Given the description of an element on the screen output the (x, y) to click on. 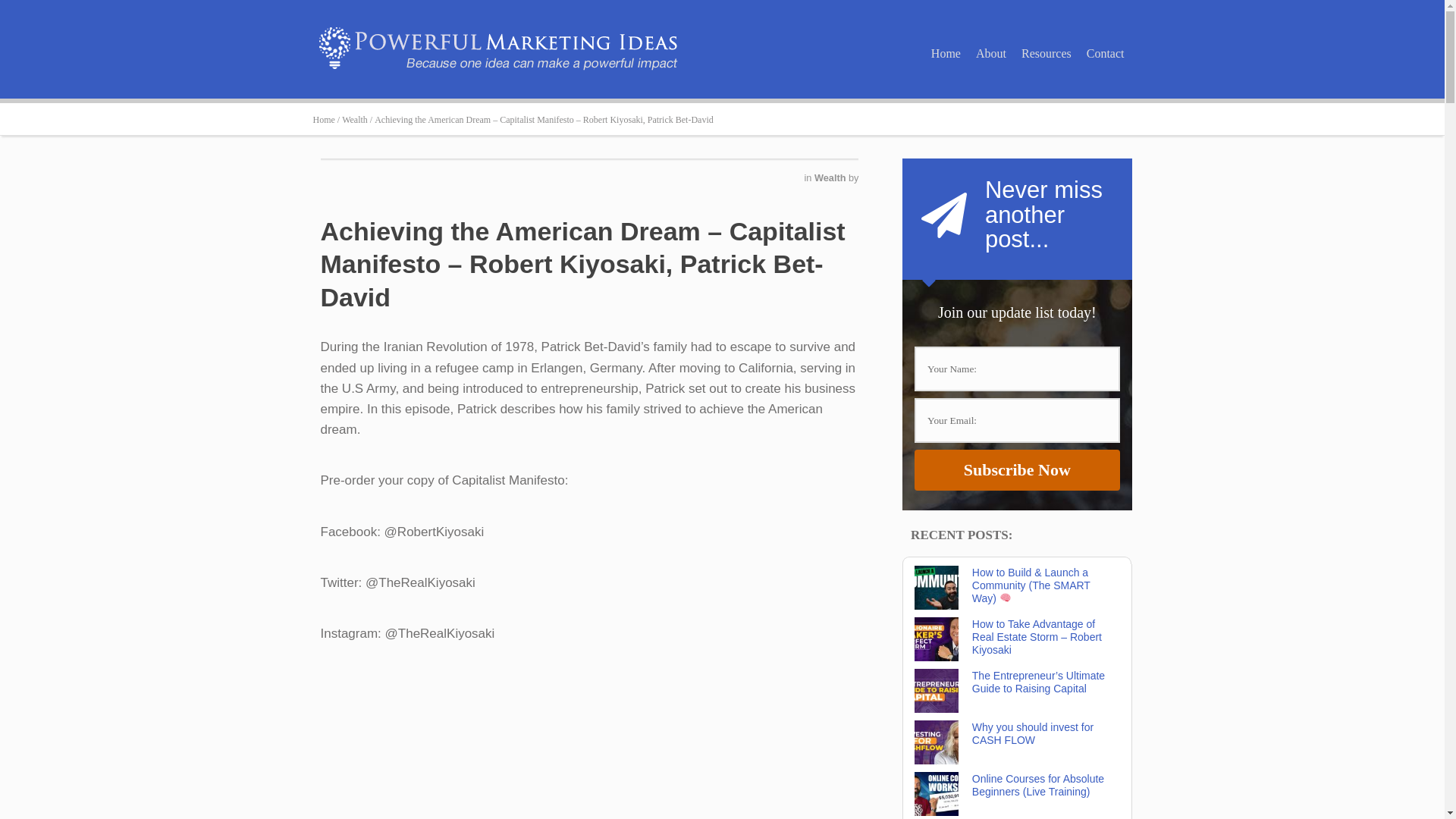
Home (945, 53)
Resources (1045, 53)
About (990, 53)
Contact (1105, 53)
Wealth (830, 177)
